Given the description of an element on the screen output the (x, y) to click on. 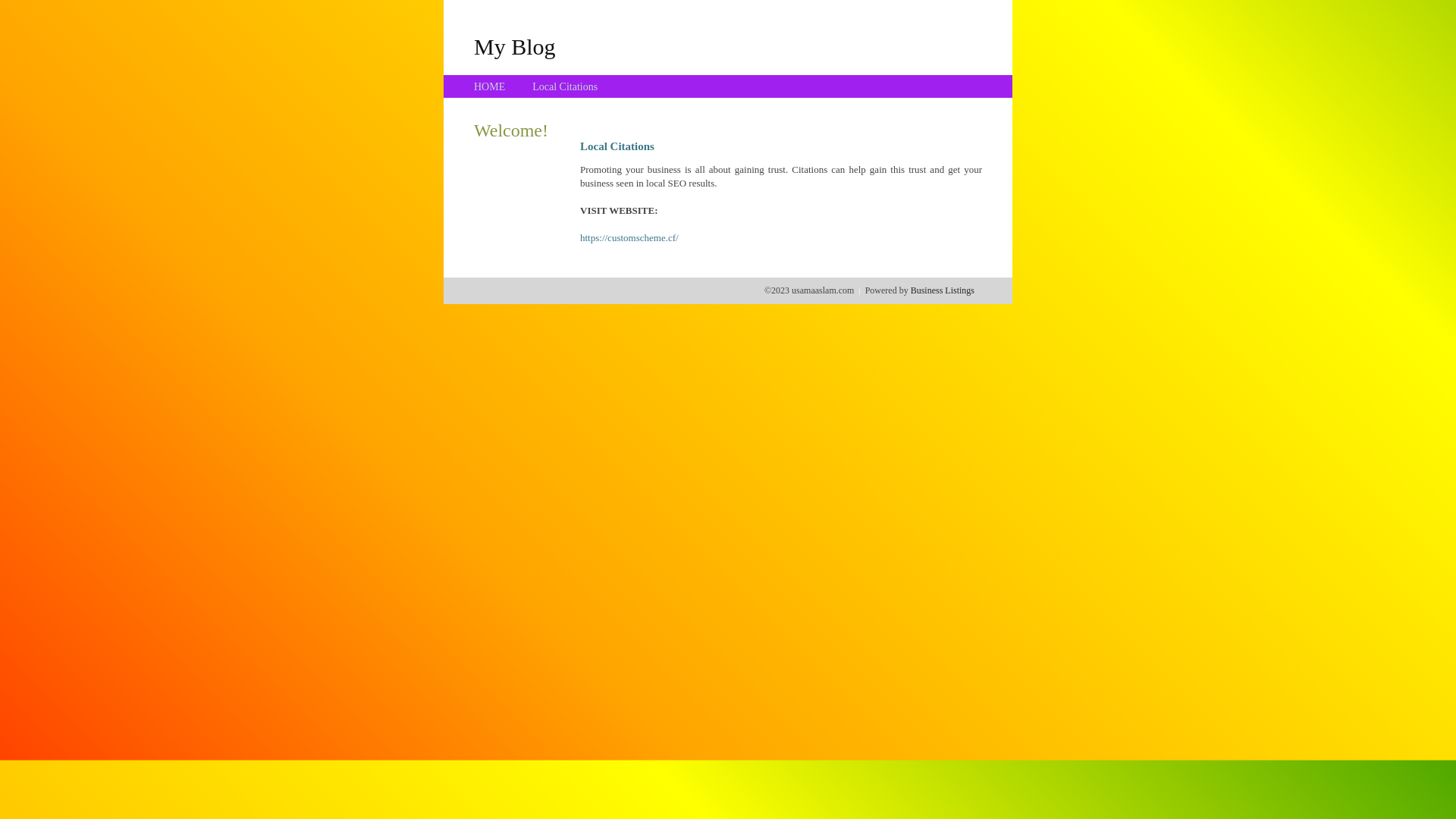
Business Listings Element type: text (942, 290)
My Blog Element type: text (514, 46)
Local Citations Element type: text (564, 86)
https://customscheme.cf/ Element type: text (629, 237)
HOME Element type: text (489, 86)
